Given the description of an element on the screen output the (x, y) to click on. 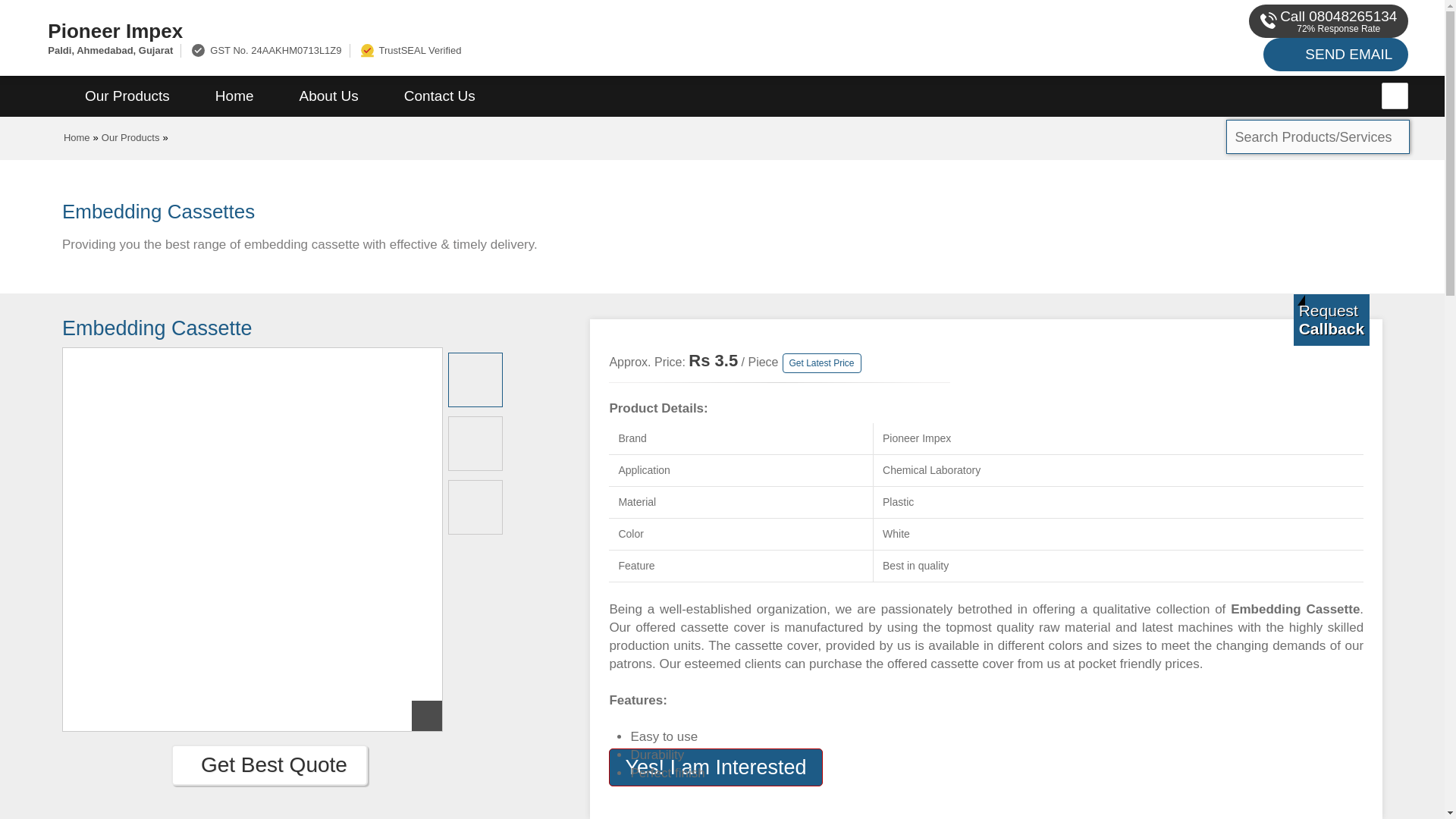
About Us (328, 96)
Contact Us (439, 96)
Get a Call from us (1332, 319)
Our Products (130, 137)
Home (234, 96)
Pioneer Impex (485, 31)
Our Products (127, 96)
Home (77, 137)
